Given the description of an element on the screen output the (x, y) to click on. 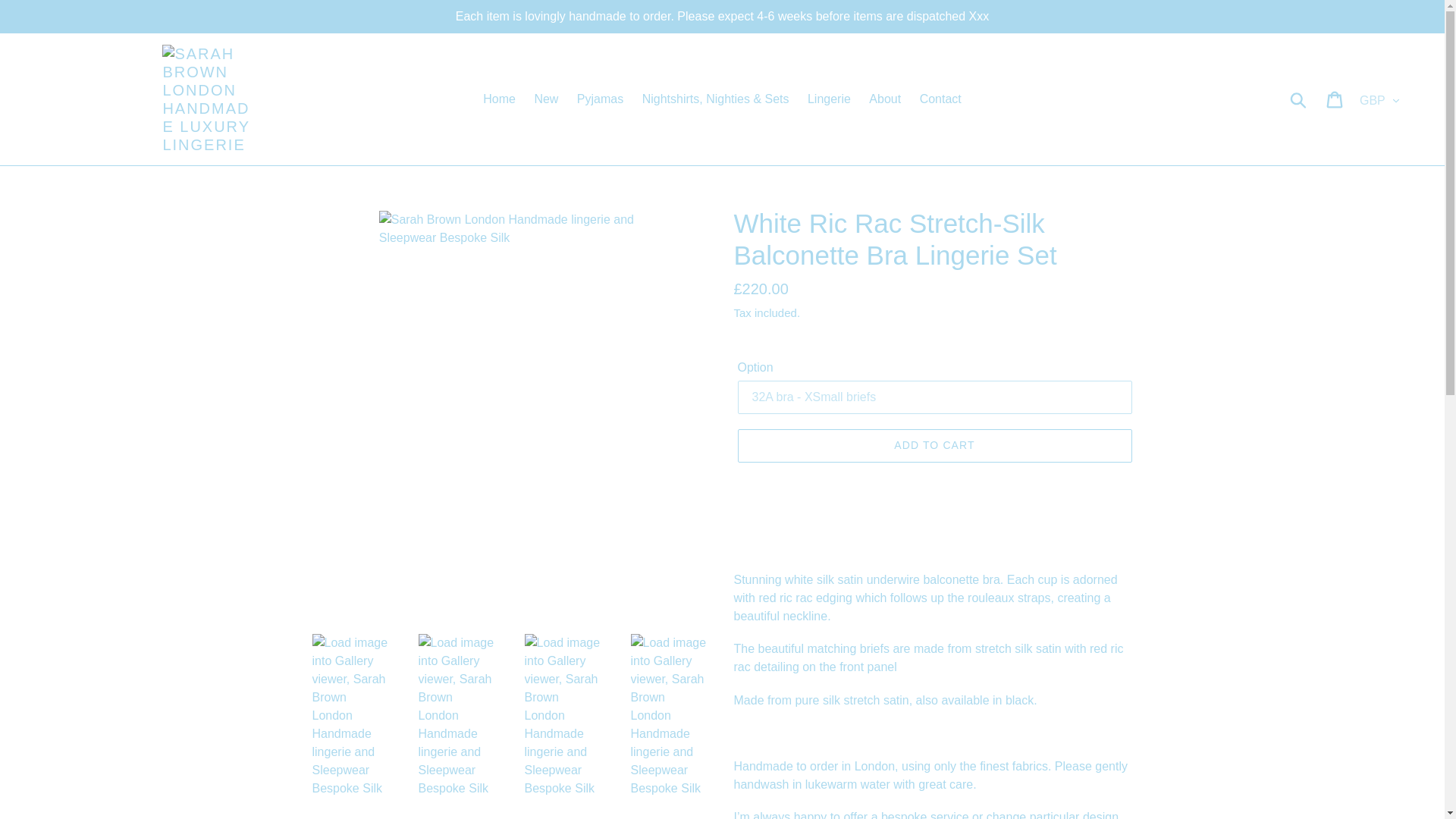
Lingerie (829, 98)
ADD TO CART (933, 445)
Contact (940, 98)
Home (499, 98)
About (884, 98)
Cart (1335, 99)
New (545, 98)
Submit (1299, 99)
Pyjamas (599, 98)
